Given the description of an element on the screen output the (x, y) to click on. 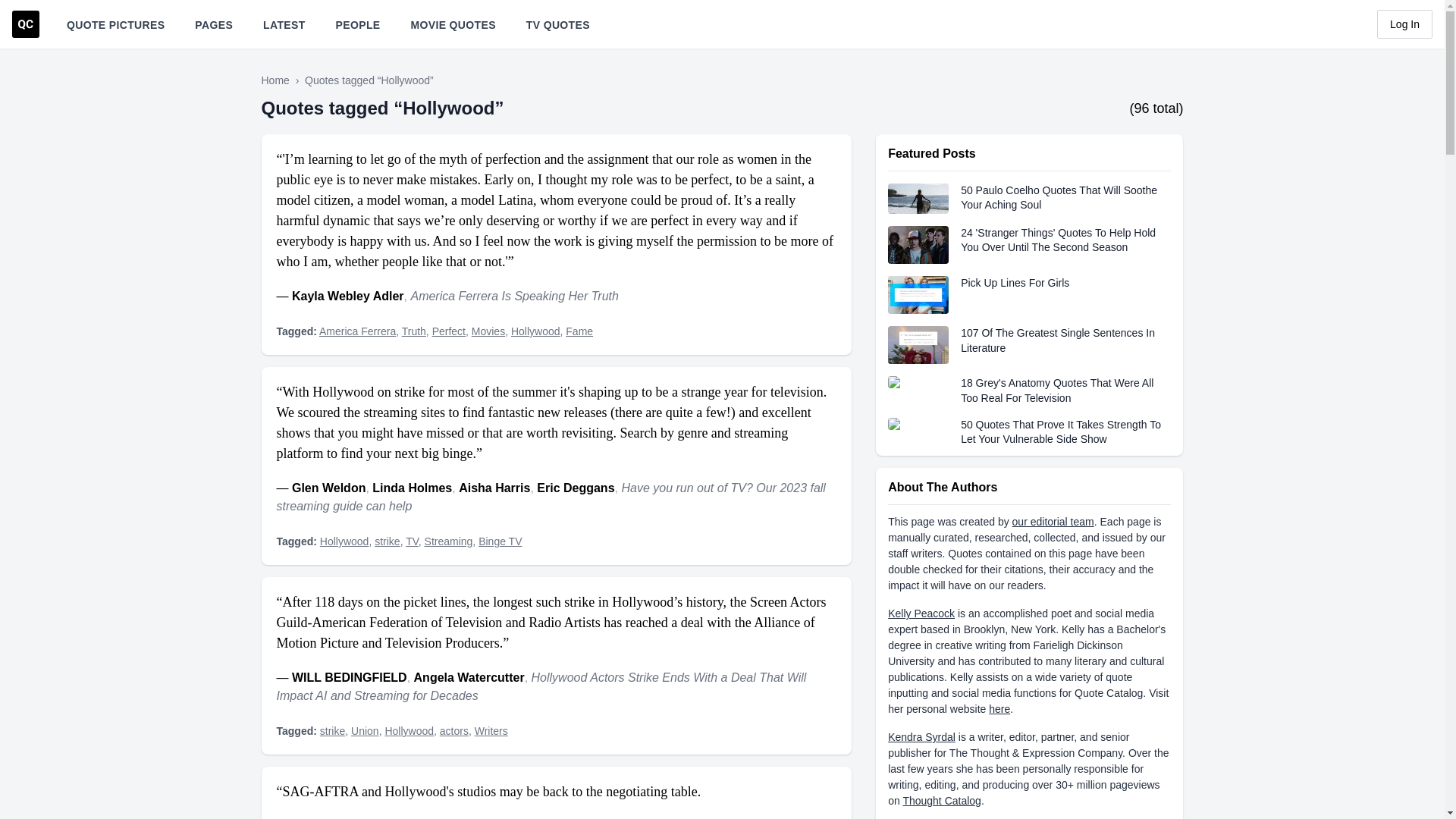
Glen Weldon (328, 487)
Perfect (448, 331)
America Ferrera Is Speaking Her Truth (513, 295)
Home (276, 80)
TV QUOTES (557, 24)
QUOTE PICTURES (115, 24)
Kayla Webley Adler (348, 295)
LATEST (284, 24)
America Ferrera (357, 331)
PAGES (213, 24)
